Given the description of an element on the screen output the (x, y) to click on. 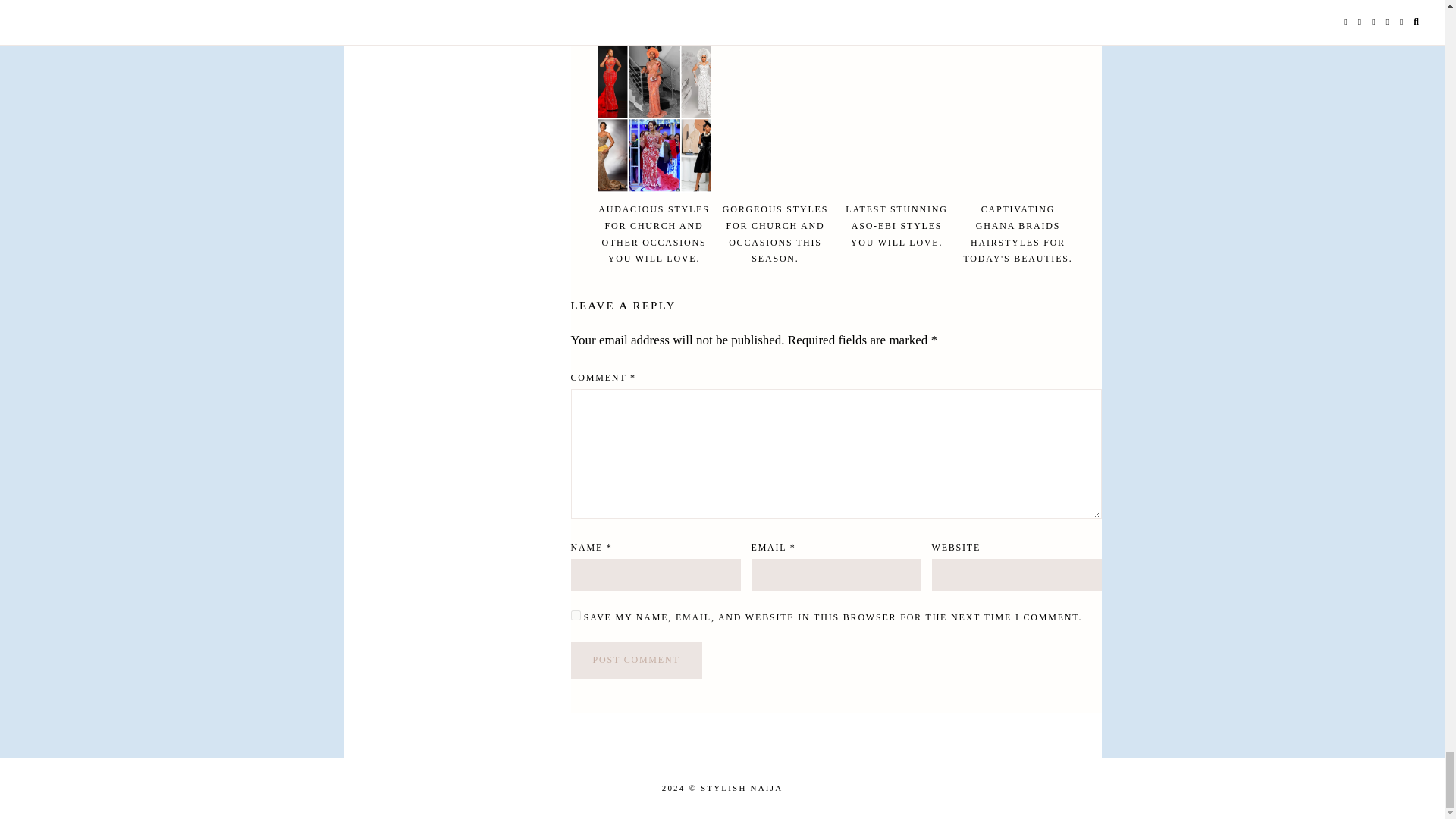
Post Comment (635, 659)
yes (574, 614)
